Given the description of an element on the screen output the (x, y) to click on. 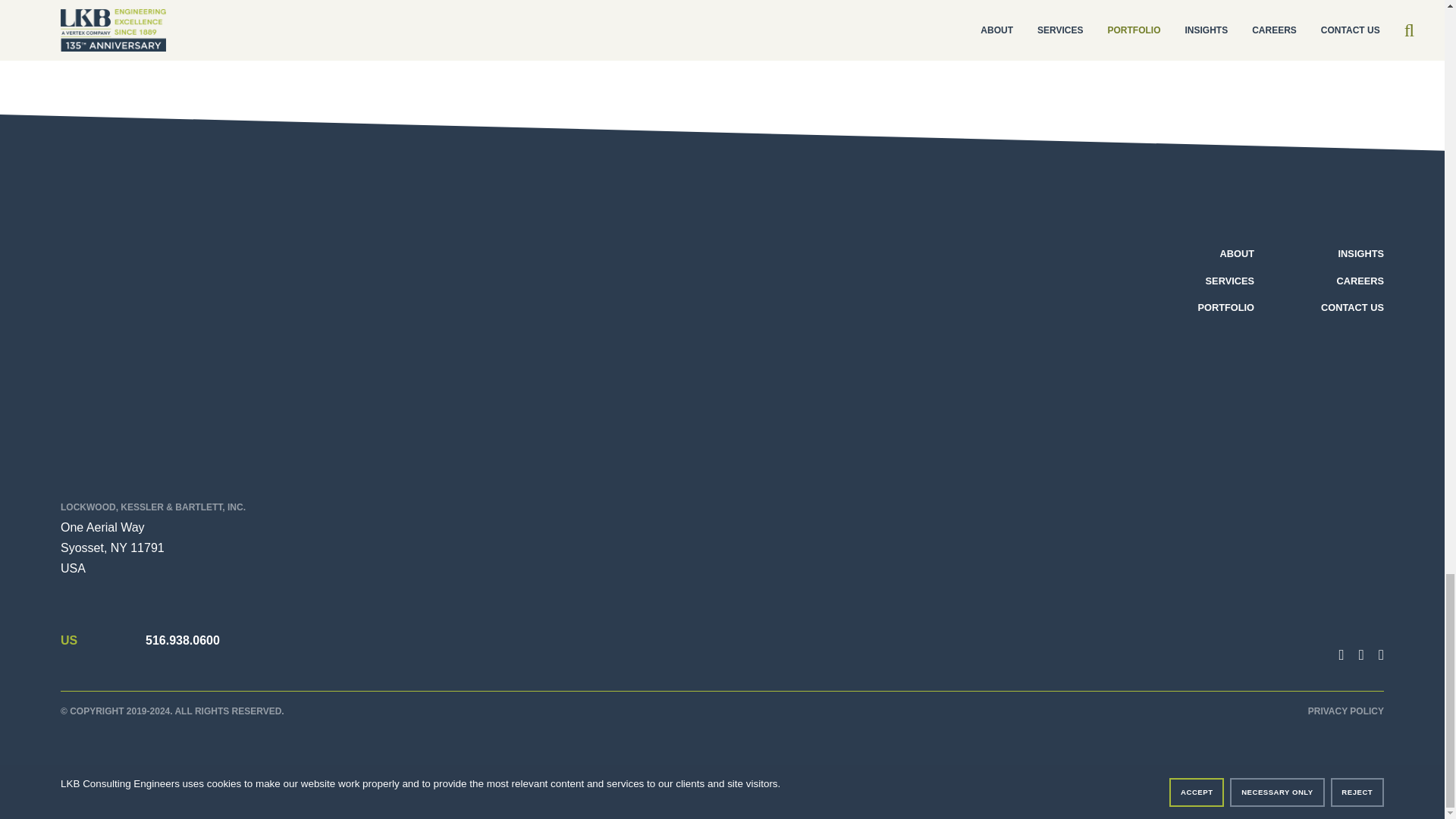
LKB Consulting Engineers (170, 357)
